Given the description of an element on the screen output the (x, y) to click on. 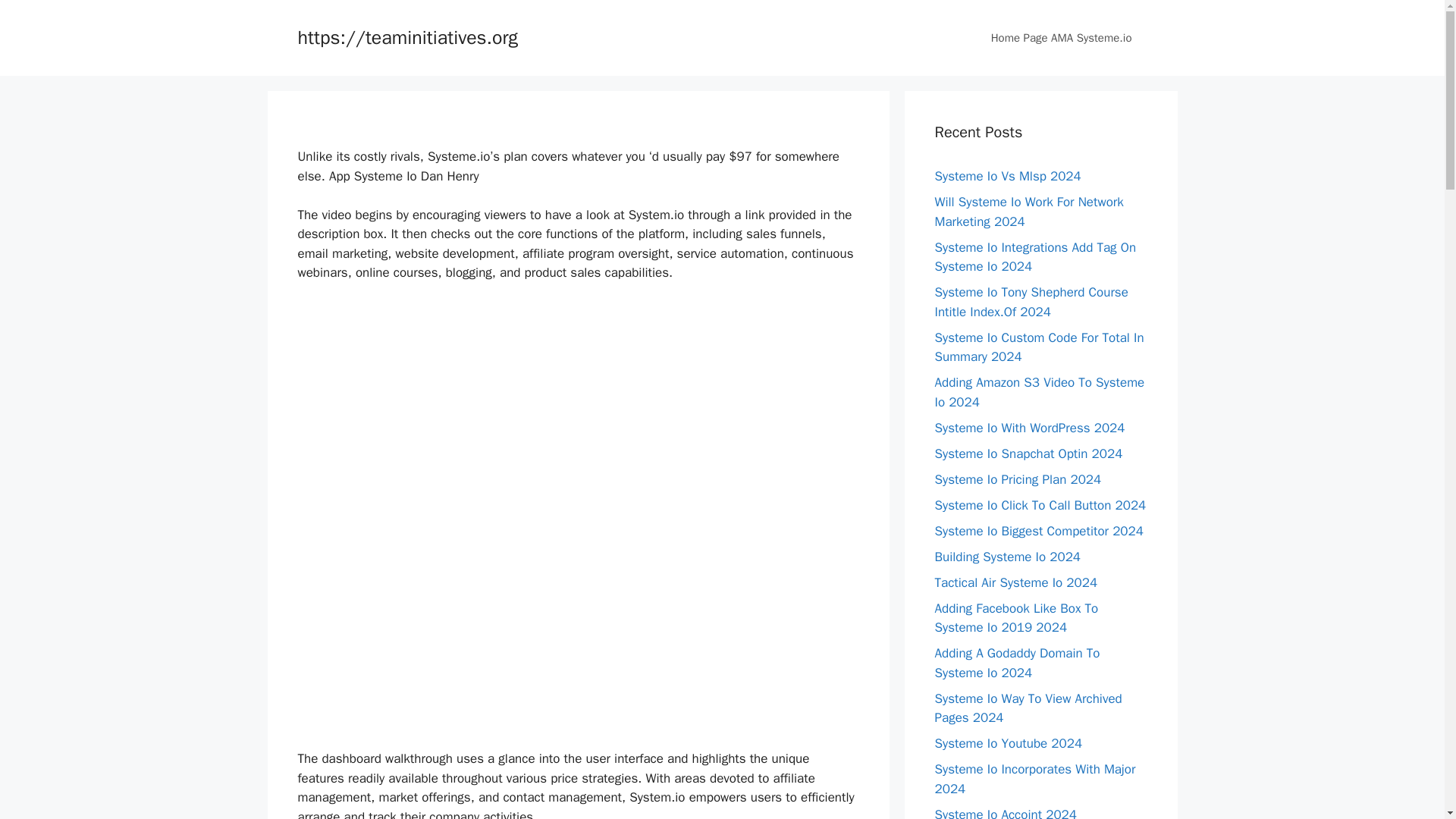
Systeme Io Biggest Competitor 2024 (1038, 530)
Adding Amazon S3 Video To Systeme Io 2024 (1039, 392)
Systeme Io Youtube 2024 (1007, 743)
Systeme Io Snapchat Optin 2024 (1028, 453)
Systeme Io Integrations Add Tag On Systeme Io 2024 (1034, 257)
Systeme Io Tony Shepherd Course Intitle Index.Of 2024 (1030, 302)
Adding Facebook Like Box To Systeme Io 2019 2024 (1015, 618)
Will Systeme Io Work For Network Marketing 2024 (1028, 212)
Home Page AMA Systeme.io (1061, 37)
Tactical Air Systeme Io 2024 (1015, 582)
